Given the description of an element on the screen output the (x, y) to click on. 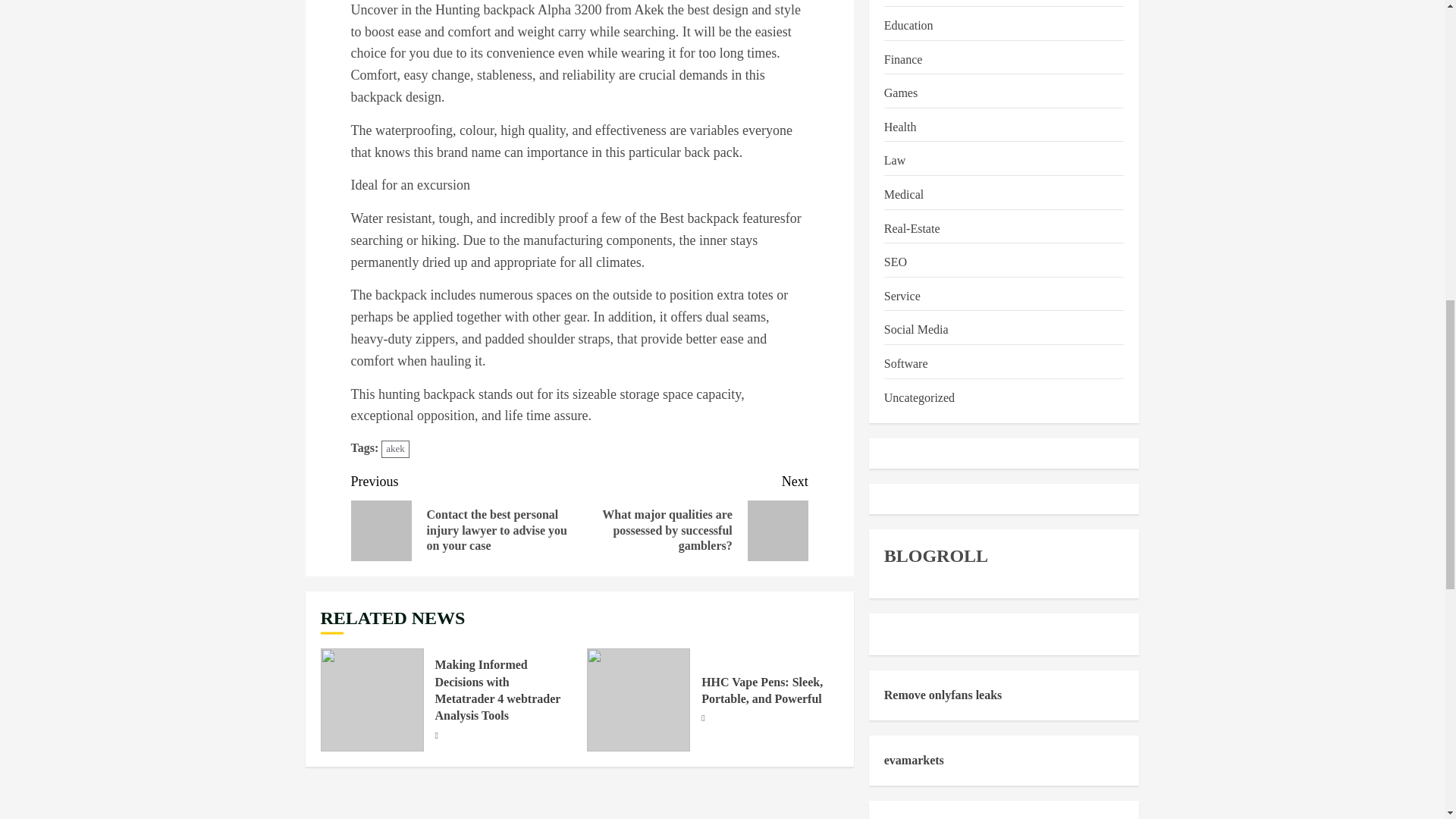
Finance (903, 59)
Business (905, 1)
Real-Estate (911, 229)
Health (900, 127)
Games (900, 93)
Law (894, 160)
SEO (895, 262)
akek (395, 448)
HHC Vape Pens: Sleek, Portable, and Powerful (761, 690)
Education (908, 25)
Medical (903, 195)
